Given the description of an element on the screen output the (x, y) to click on. 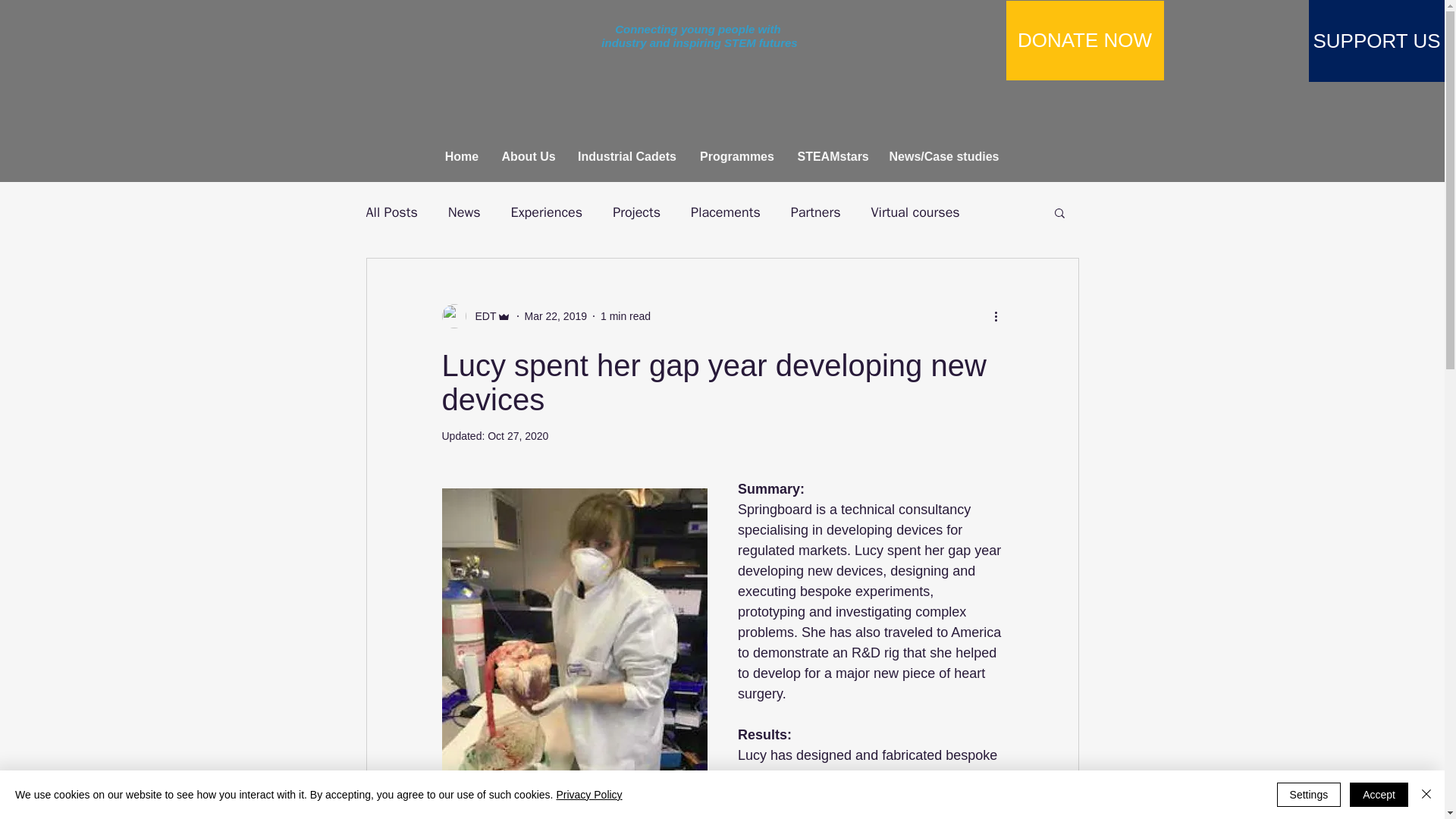
Partners (815, 212)
Home (461, 156)
EDT (480, 315)
Projects (636, 212)
EDT (476, 315)
Experiences (547, 212)
Accessibility Menu (1422, 792)
STEAMstars (831, 156)
Mar 22, 2019 (556, 315)
All Posts (390, 212)
About Us (527, 156)
Programmes (737, 156)
Industrial Cadets (626, 156)
Placements (725, 212)
DONATE NOW (1084, 40)
